Given the description of an element on the screen output the (x, y) to click on. 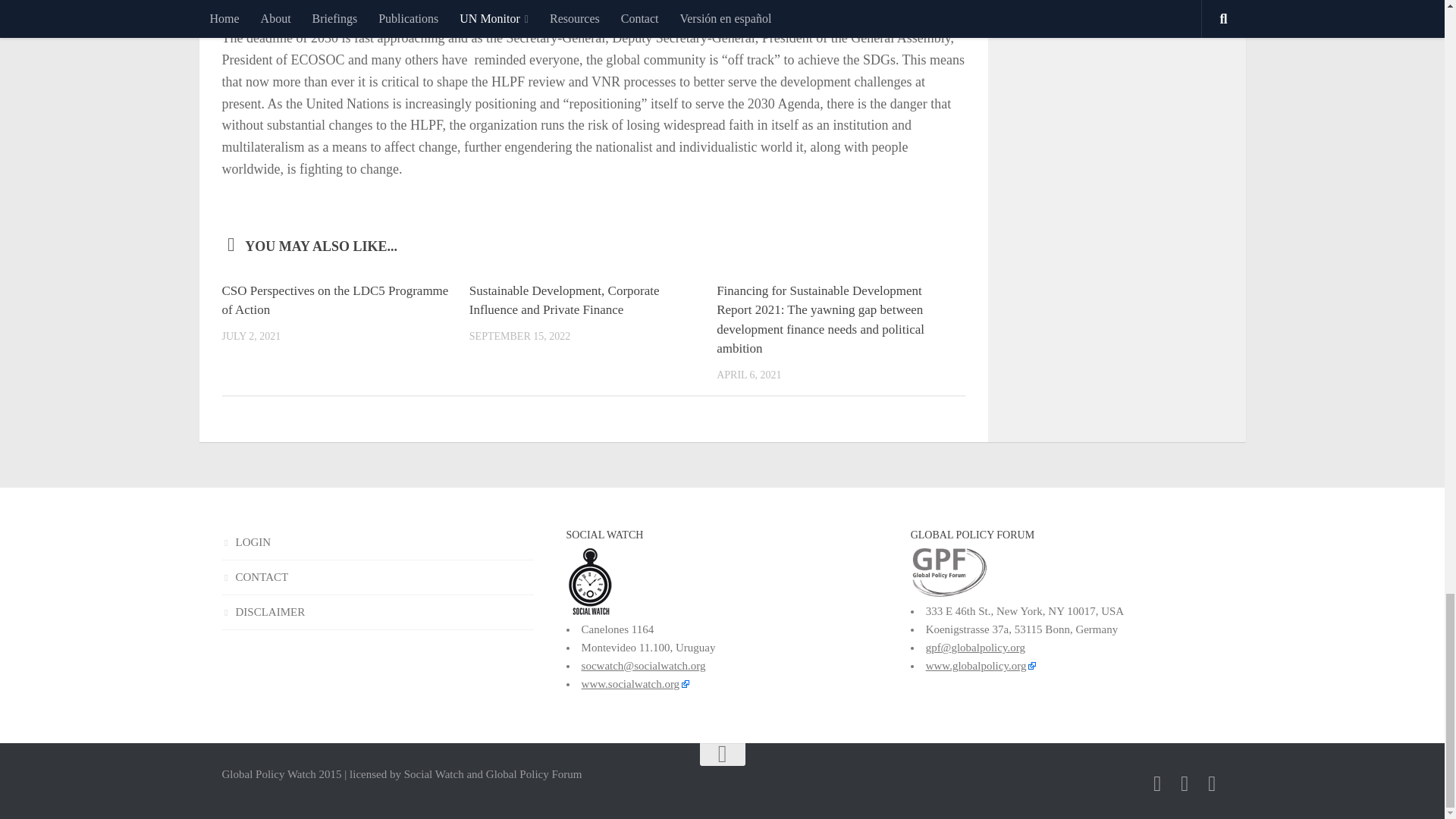
twitter (1157, 783)
rss (1212, 783)
subscribe (1184, 783)
